Given the description of an element on the screen output the (x, y) to click on. 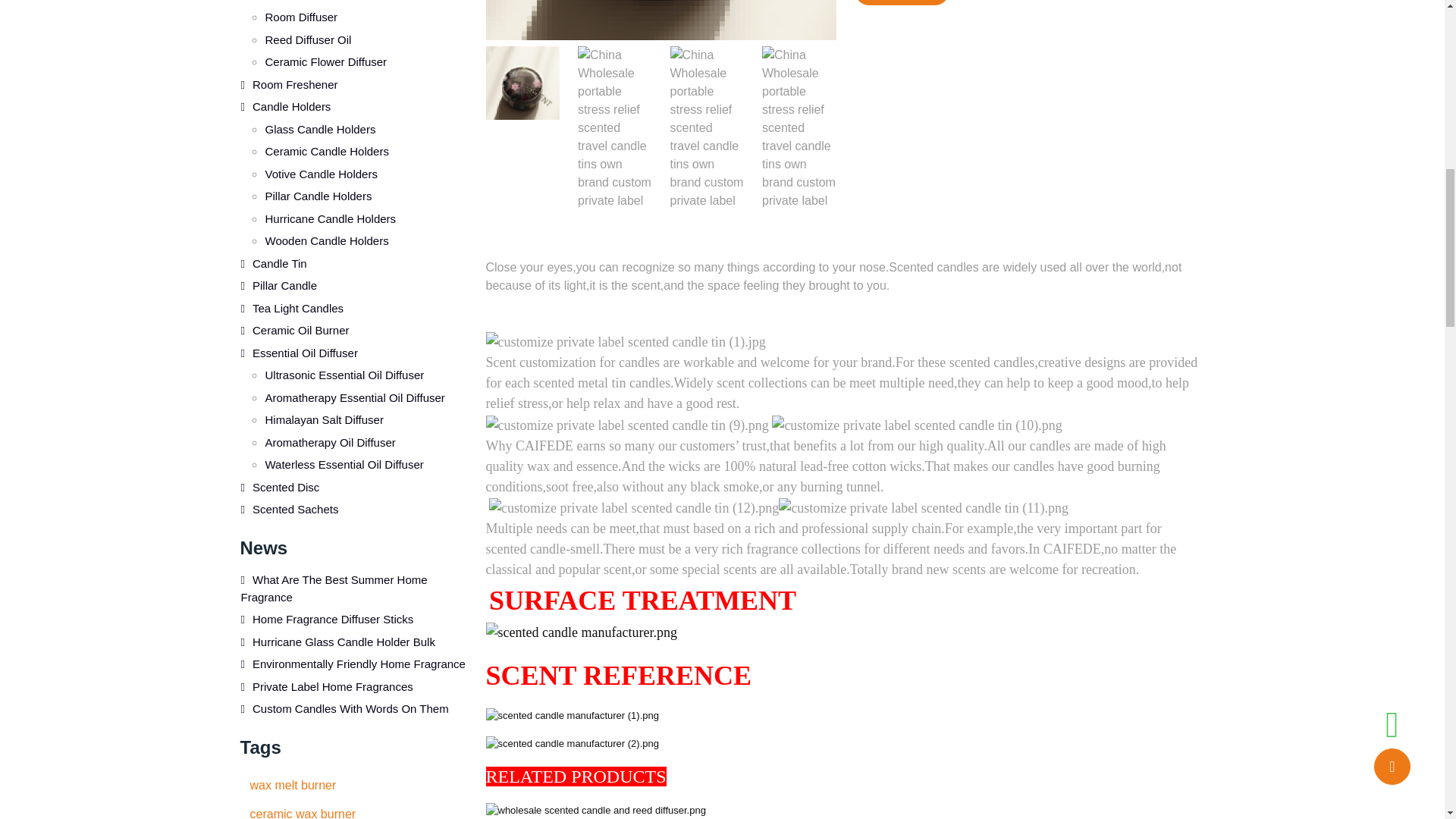
wholesale scented candle and reed diffuser220957.png (594, 810)
scented candle manufacturer938927.png (580, 632)
Contact Now (901, 2)
